Given the description of an element on the screen output the (x, y) to click on. 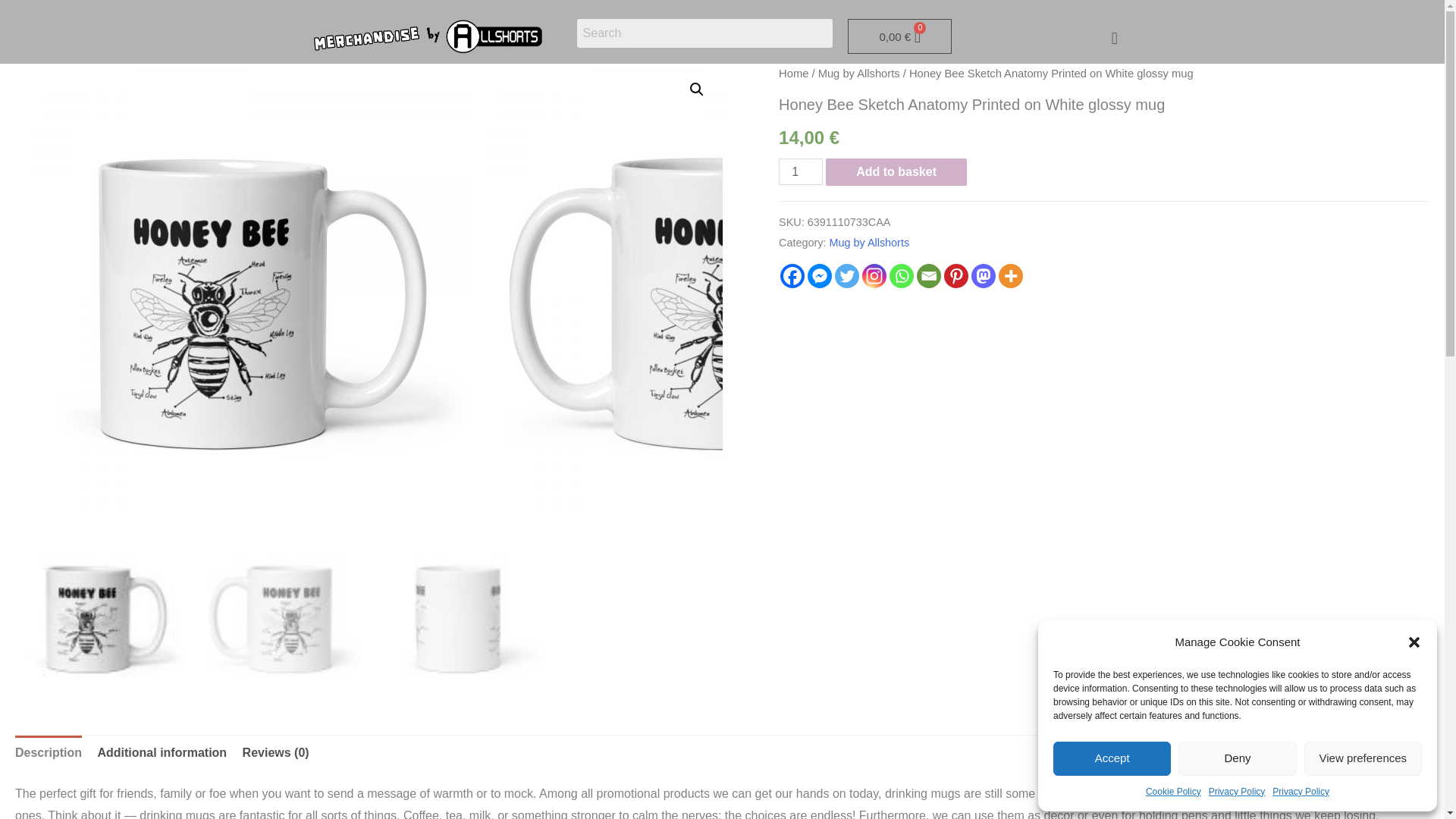
Instagram (873, 275)
Search (704, 32)
Pinterest (955, 275)
Mastodon (983, 275)
Privacy Policy (1300, 791)
Twitter (846, 275)
Cookie Policy (1173, 791)
1 (800, 171)
Email (928, 275)
View preferences (1363, 758)
More (1010, 275)
Accept (1111, 758)
Facebook (792, 275)
